Given the description of an element on the screen output the (x, y) to click on. 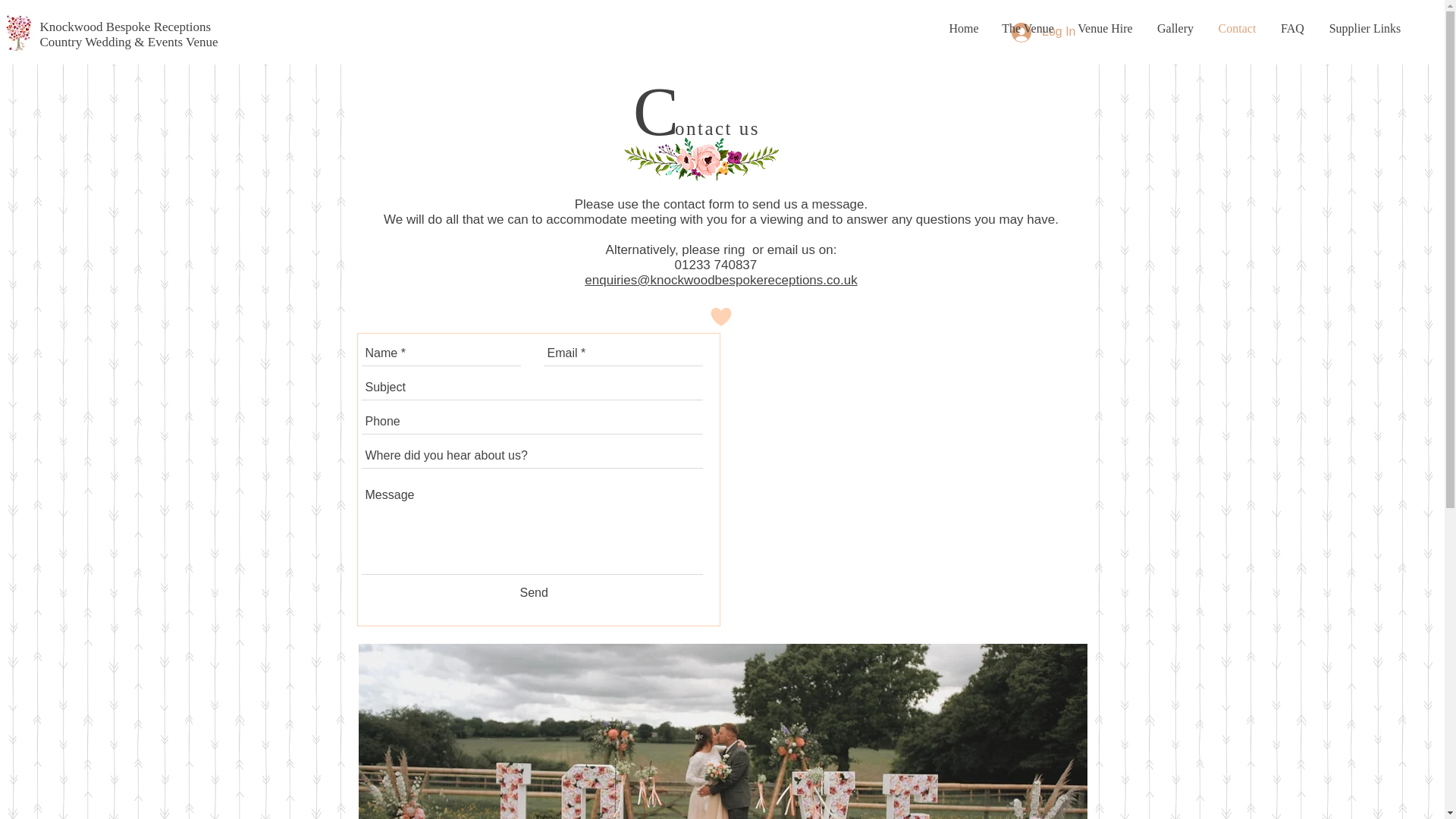
Home (963, 28)
Contact (1236, 28)
Supplier Links (1364, 28)
The Venue (1027, 28)
Send (533, 592)
Venue Hire (1104, 28)
Log In (1043, 32)
Gallery (1174, 28)
FAQ (1292, 28)
